Given the description of an element on the screen output the (x, y) to click on. 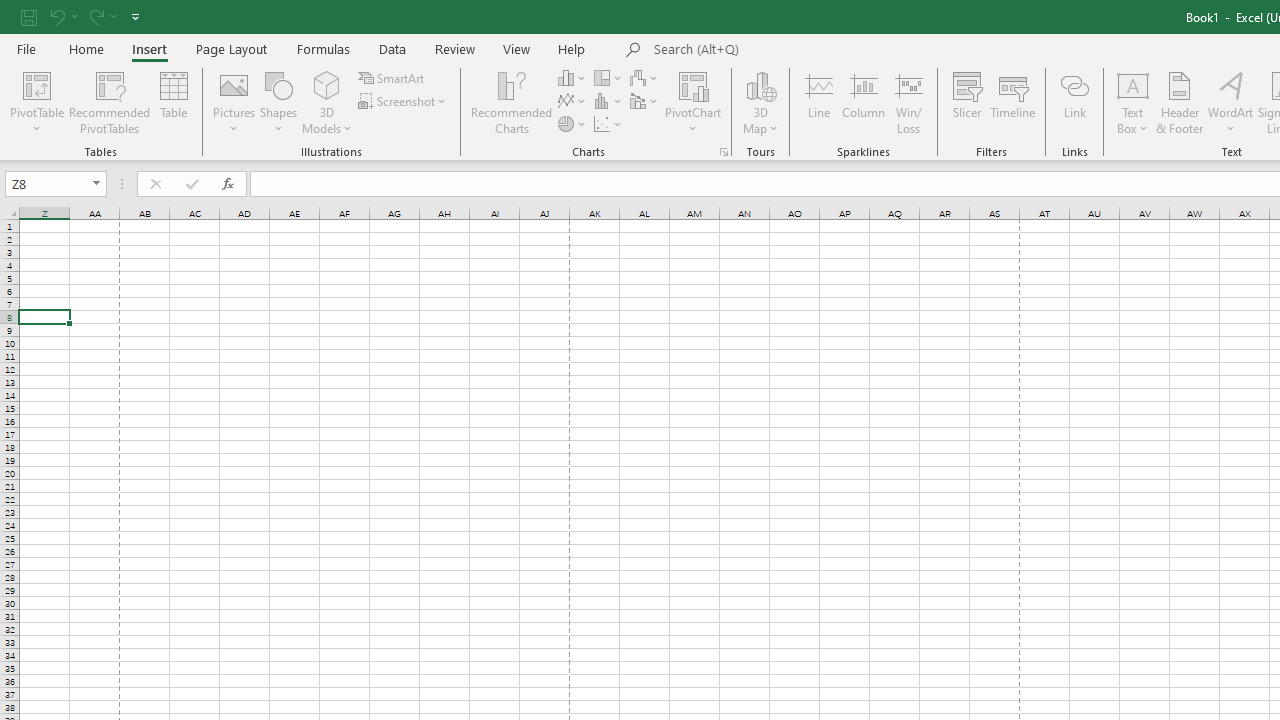
SmartArt... (392, 78)
3D Map (760, 84)
Insert Statistic Chart (609, 101)
PivotChart (693, 84)
Text Box (1133, 102)
Draw Horizontal Text Box (1133, 84)
Line (818, 102)
